Given the description of an element on the screen output the (x, y) to click on. 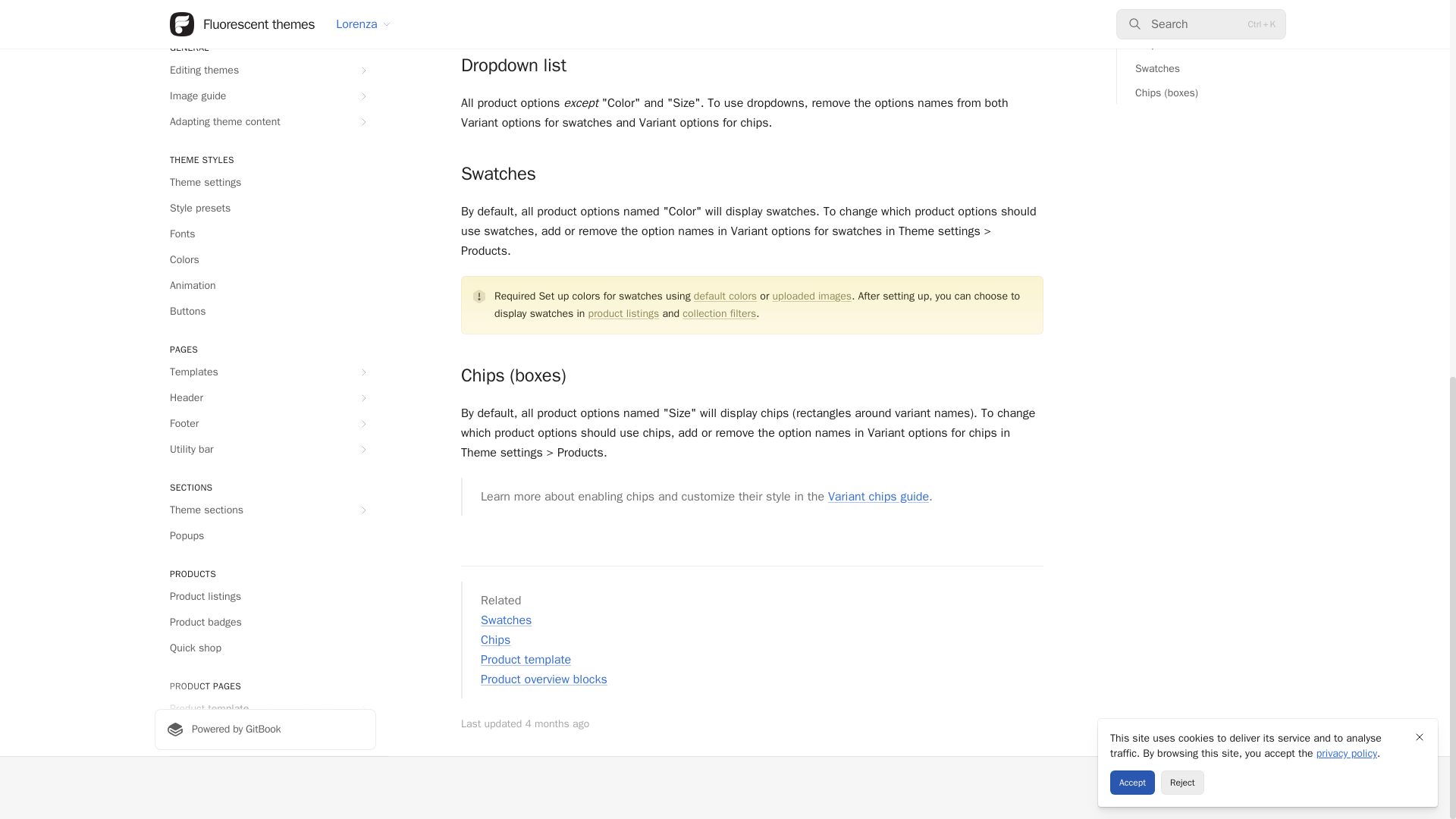
Close (1419, 38)
